Given the description of an element on the screen output the (x, y) to click on. 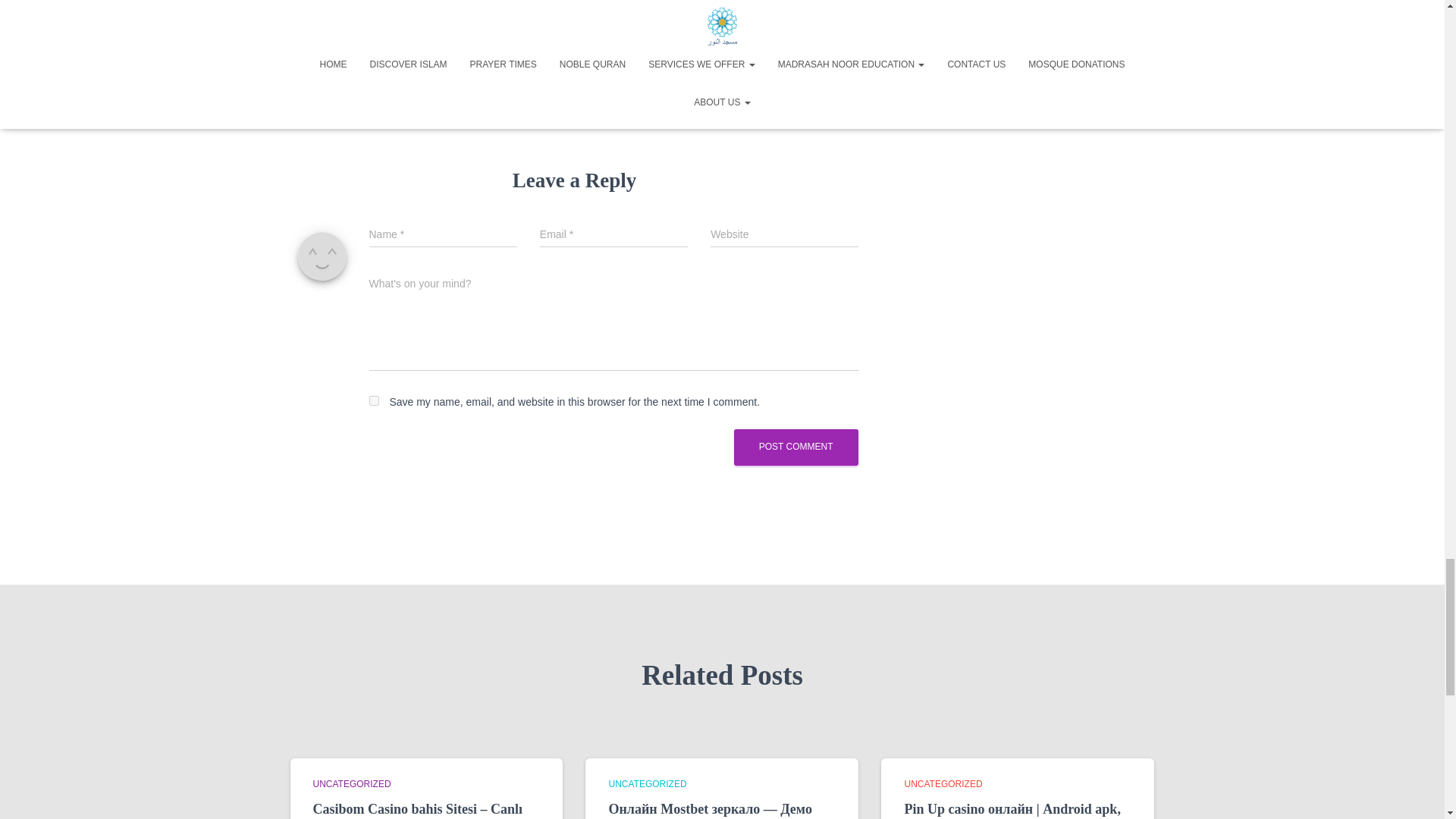
Post Comment (796, 447)
Post Comment (796, 447)
UNCATEGORIZED (646, 783)
UNCATEGORIZED (942, 783)
UNCATEGORIZED (351, 783)
yes (373, 400)
